Given the description of an element on the screen output the (x, y) to click on. 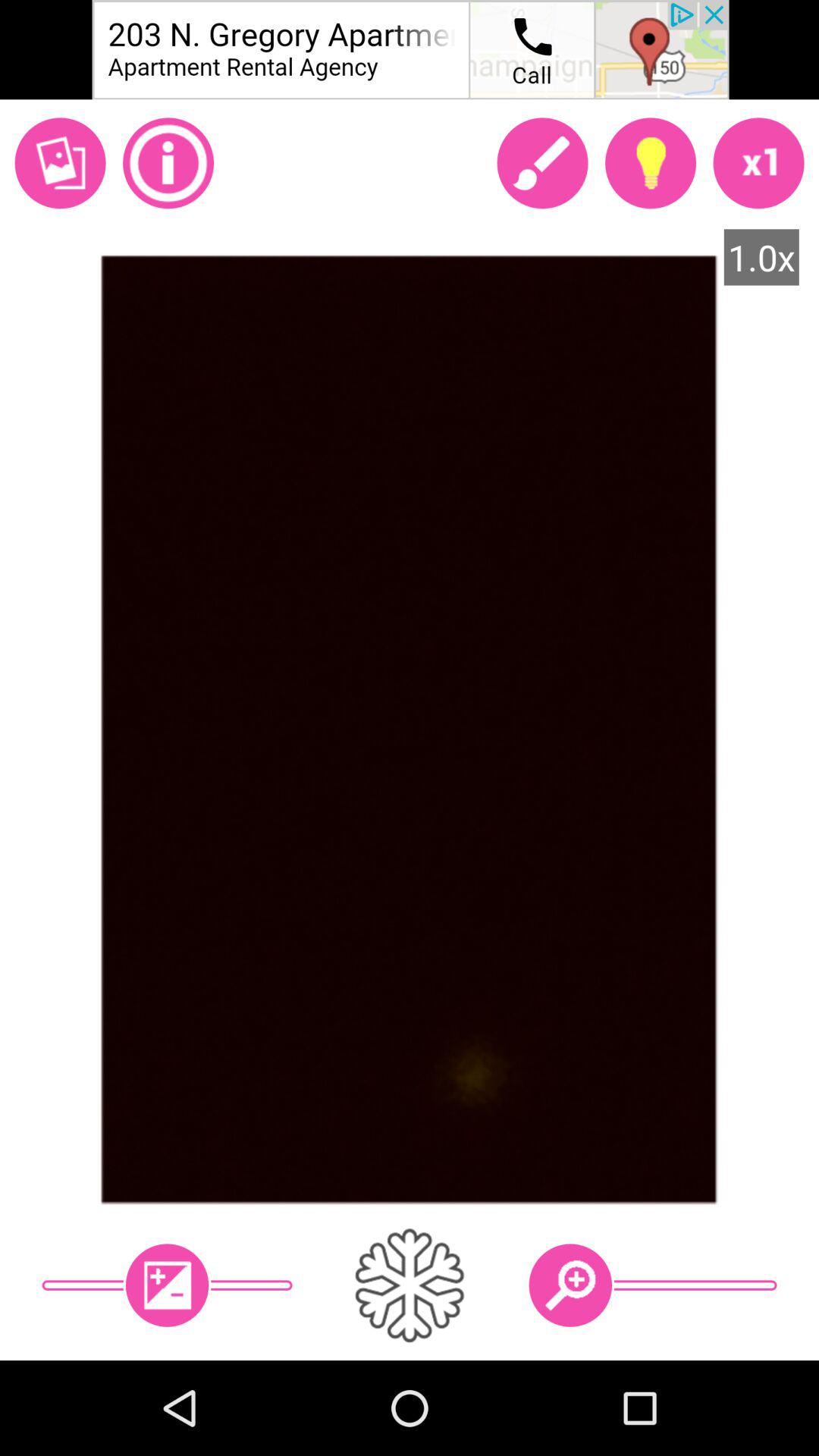
open paintbrush (542, 163)
